Given the description of an element on the screen output the (x, y) to click on. 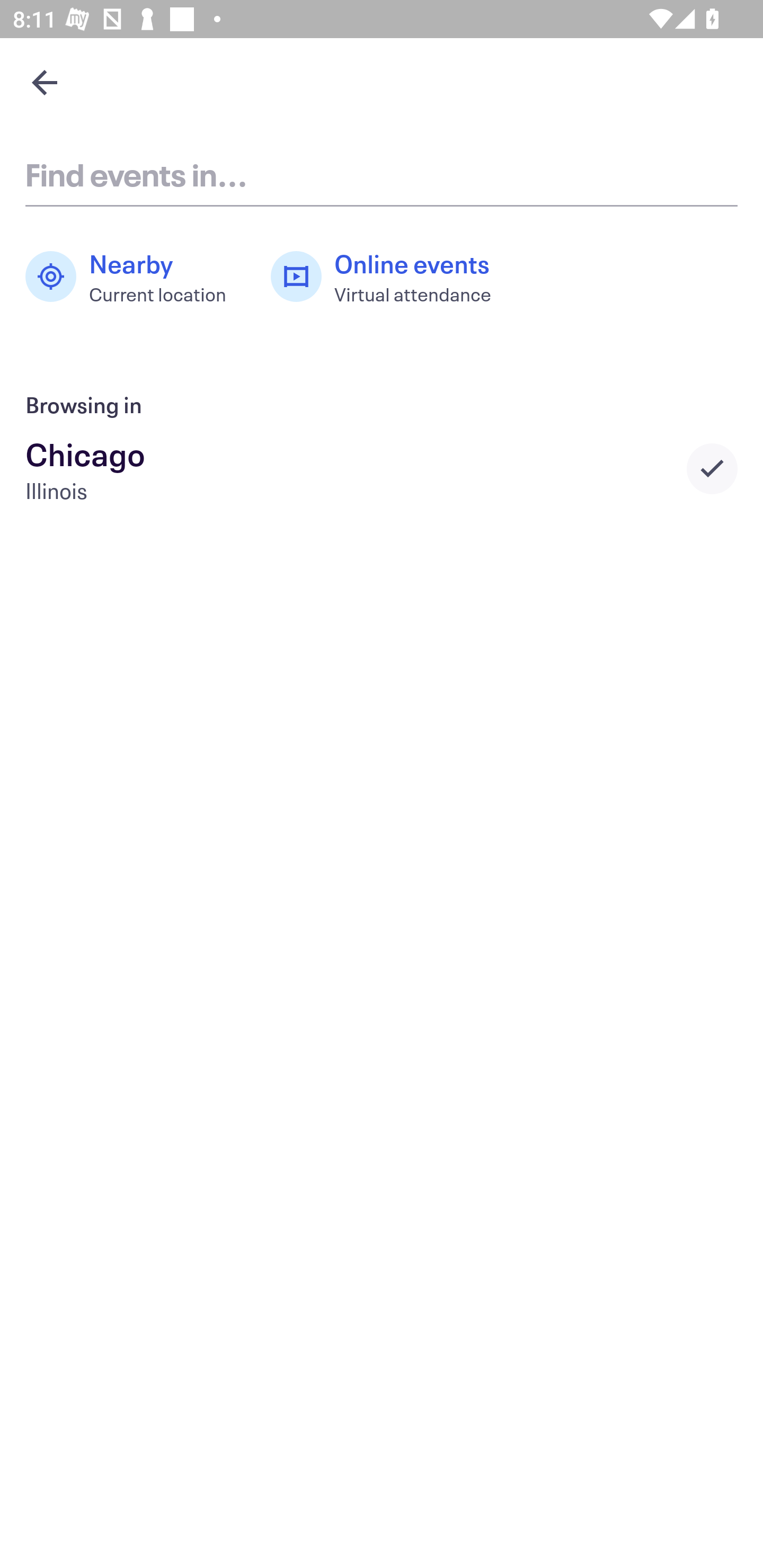
Navigate up (44, 82)
Find events in... (381, 173)
Nearby Current location (135, 276)
Online events Virtual attendance (390, 276)
Chicago Illinois Selected city (381, 468)
